Given the description of an element on the screen output the (x, y) to click on. 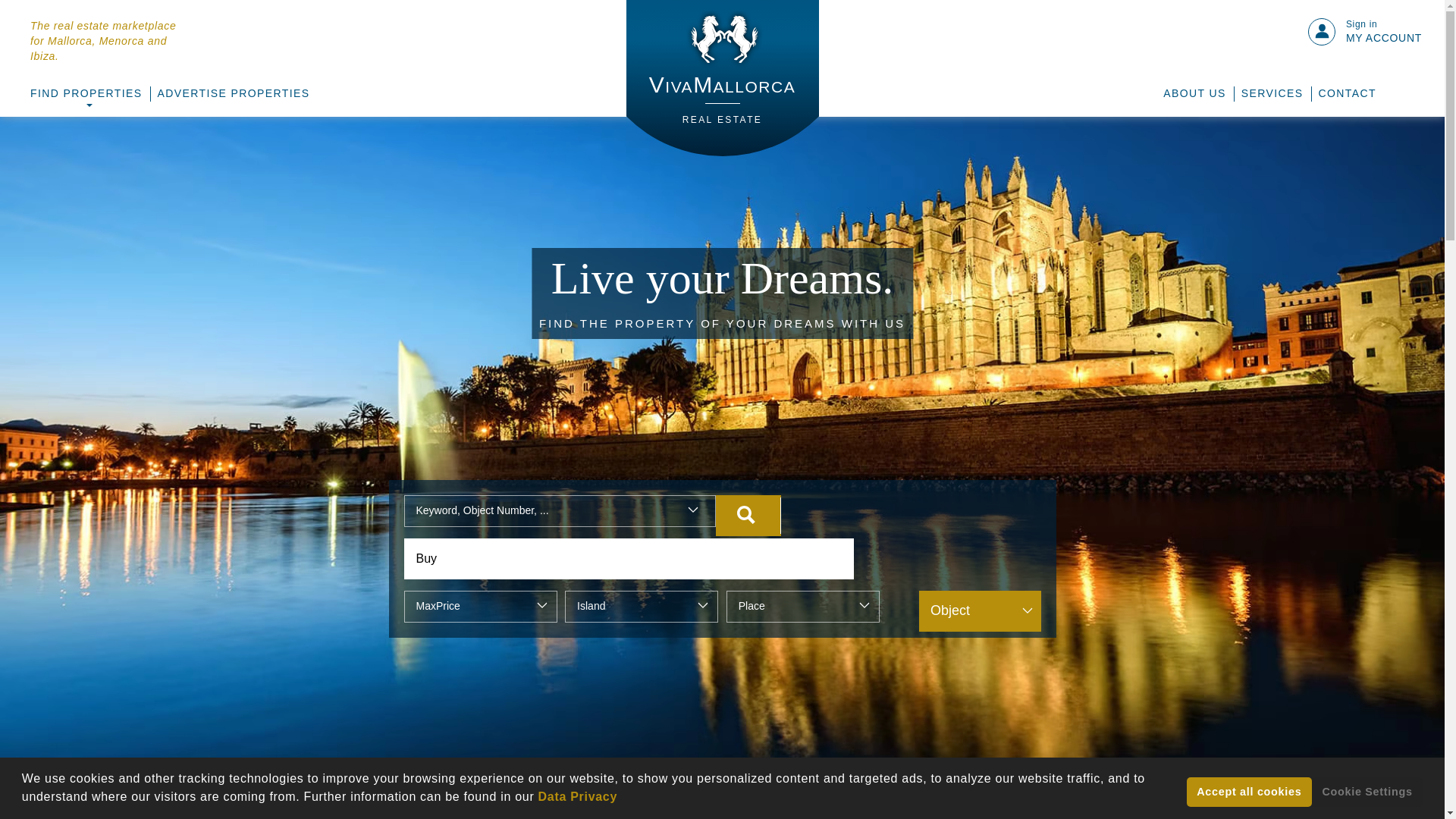
ADVERTISE PROPERTIES (233, 93)
CONTACT (1347, 93)
Find Objects (748, 515)
Find Objects (748, 515)
FIND PROPERTIES (86, 93)
ABOUT US (1194, 93)
SERVICES (722, 78)
Buy (1272, 93)
